Given the description of an element on the screen output the (x, y) to click on. 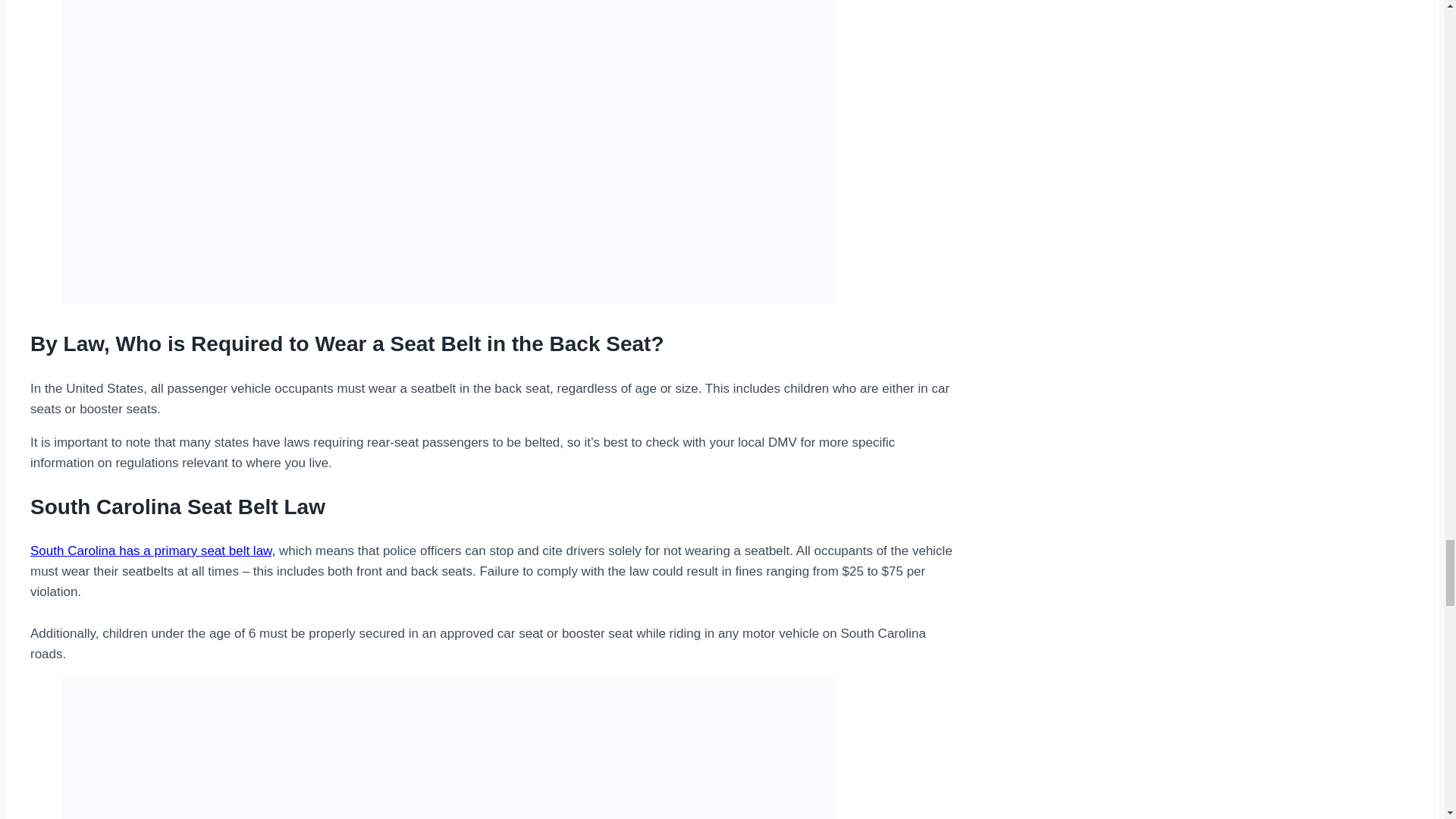
South Carolina has a primary seat belt law, (152, 550)
